Given the description of an element on the screen output the (x, y) to click on. 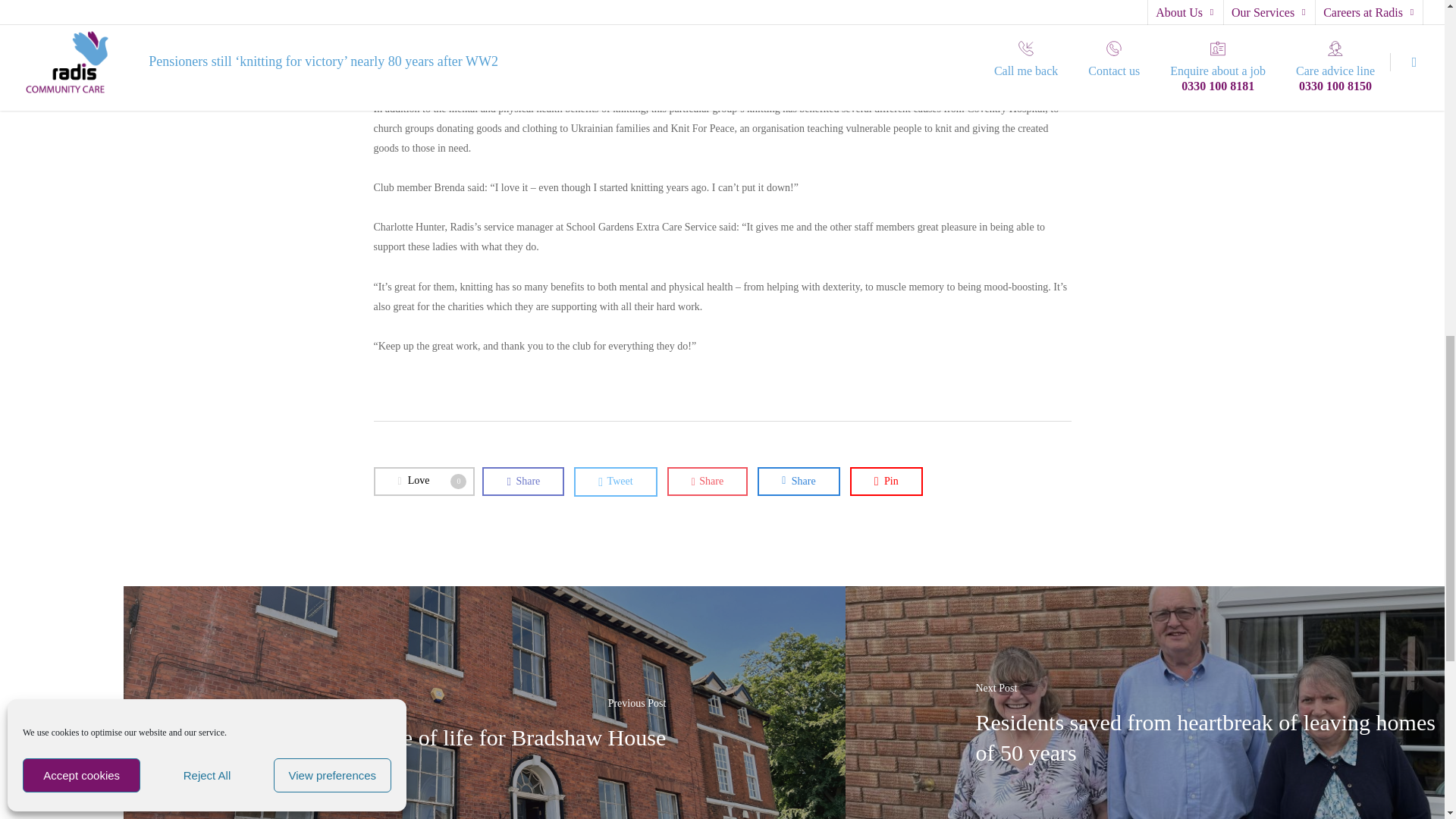
Pin this (886, 481)
Share this (798, 481)
Love this (423, 481)
Tweet this (614, 481)
Share this (707, 481)
Share this (522, 481)
